Given the description of an element on the screen output the (x, y) to click on. 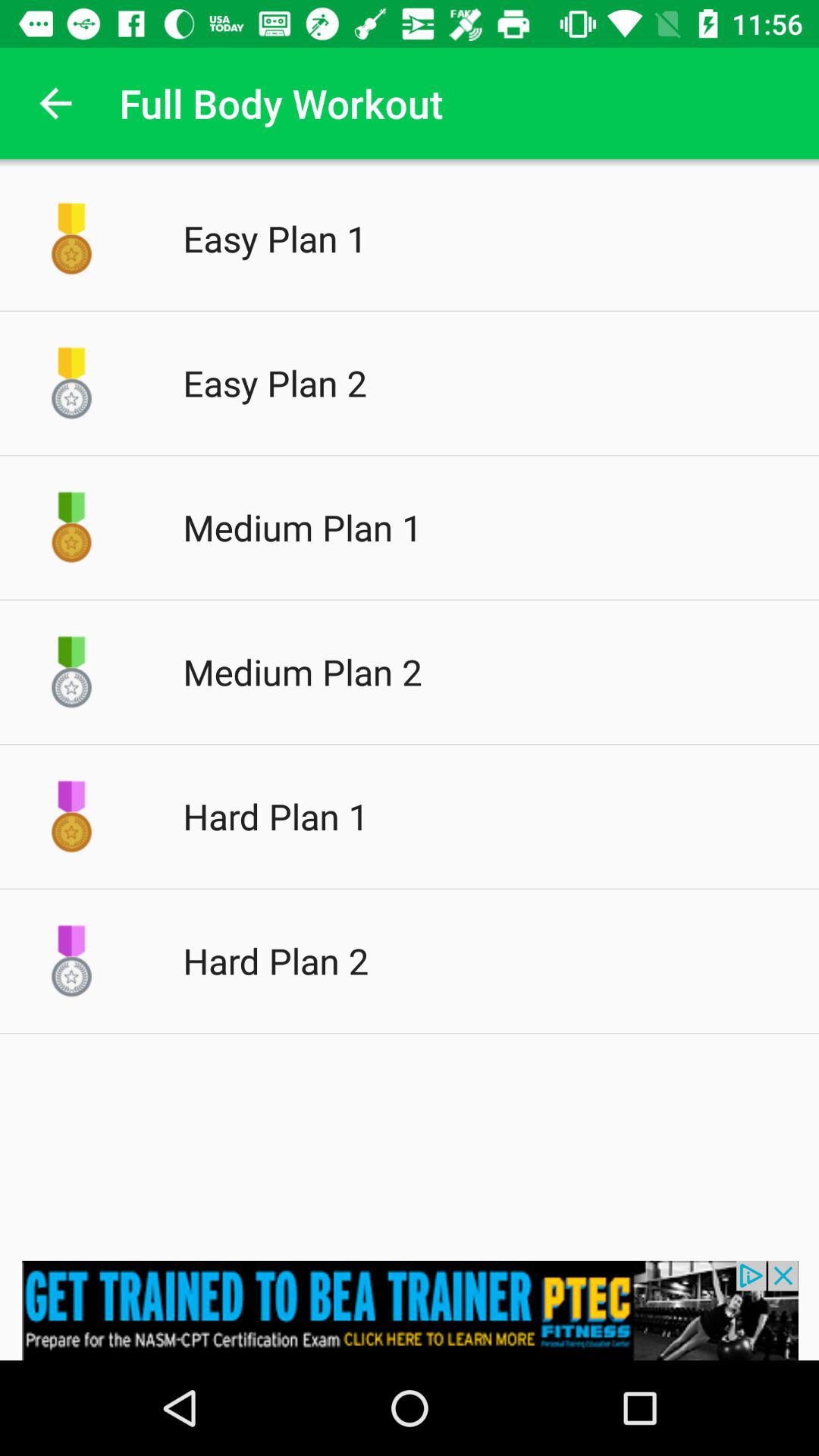
pop up advertisement (409, 1310)
